Given the description of an element on the screen output the (x, y) to click on. 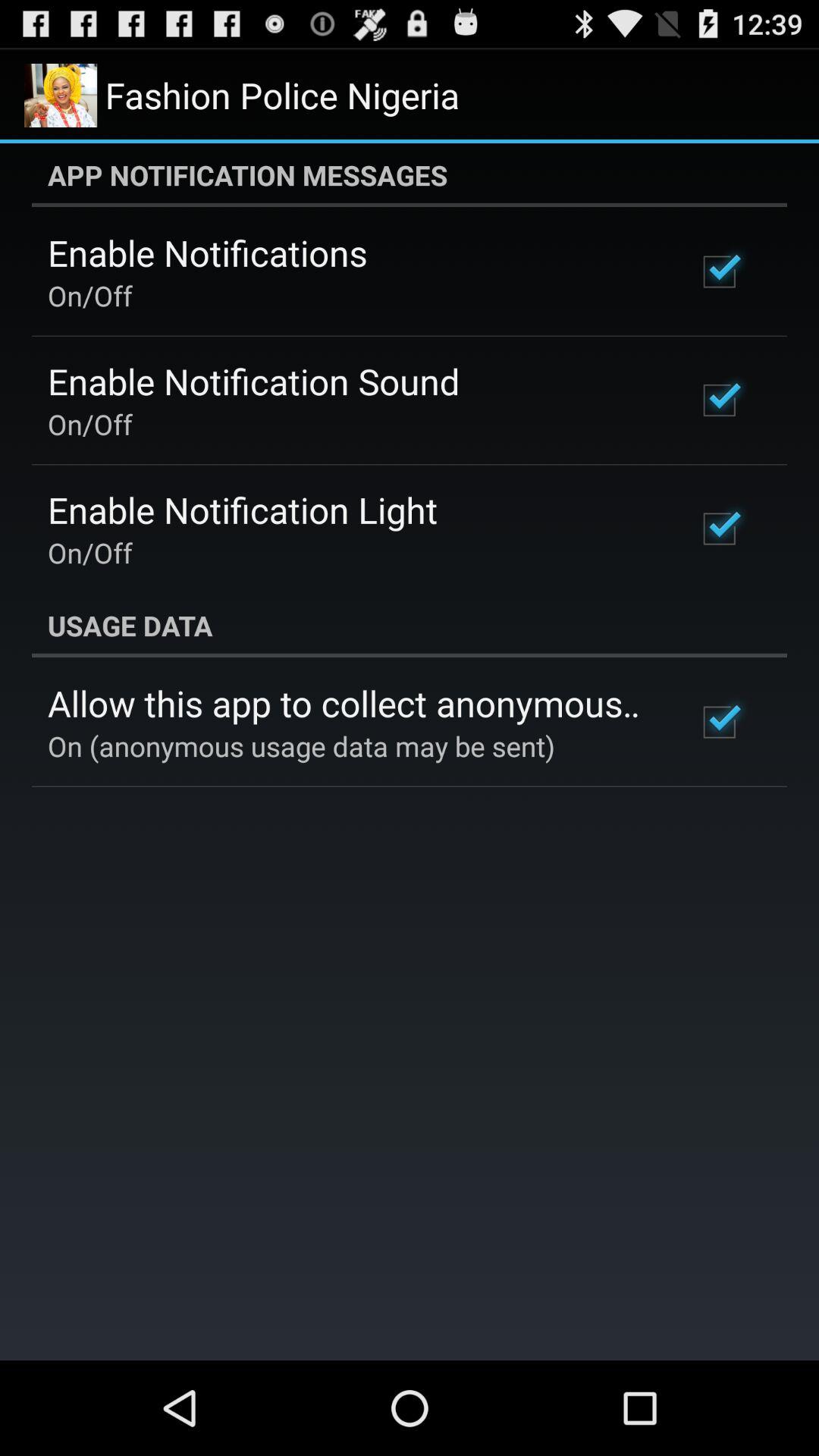
press the enable notifications (207, 252)
